Given the description of an element on the screen output the (x, y) to click on. 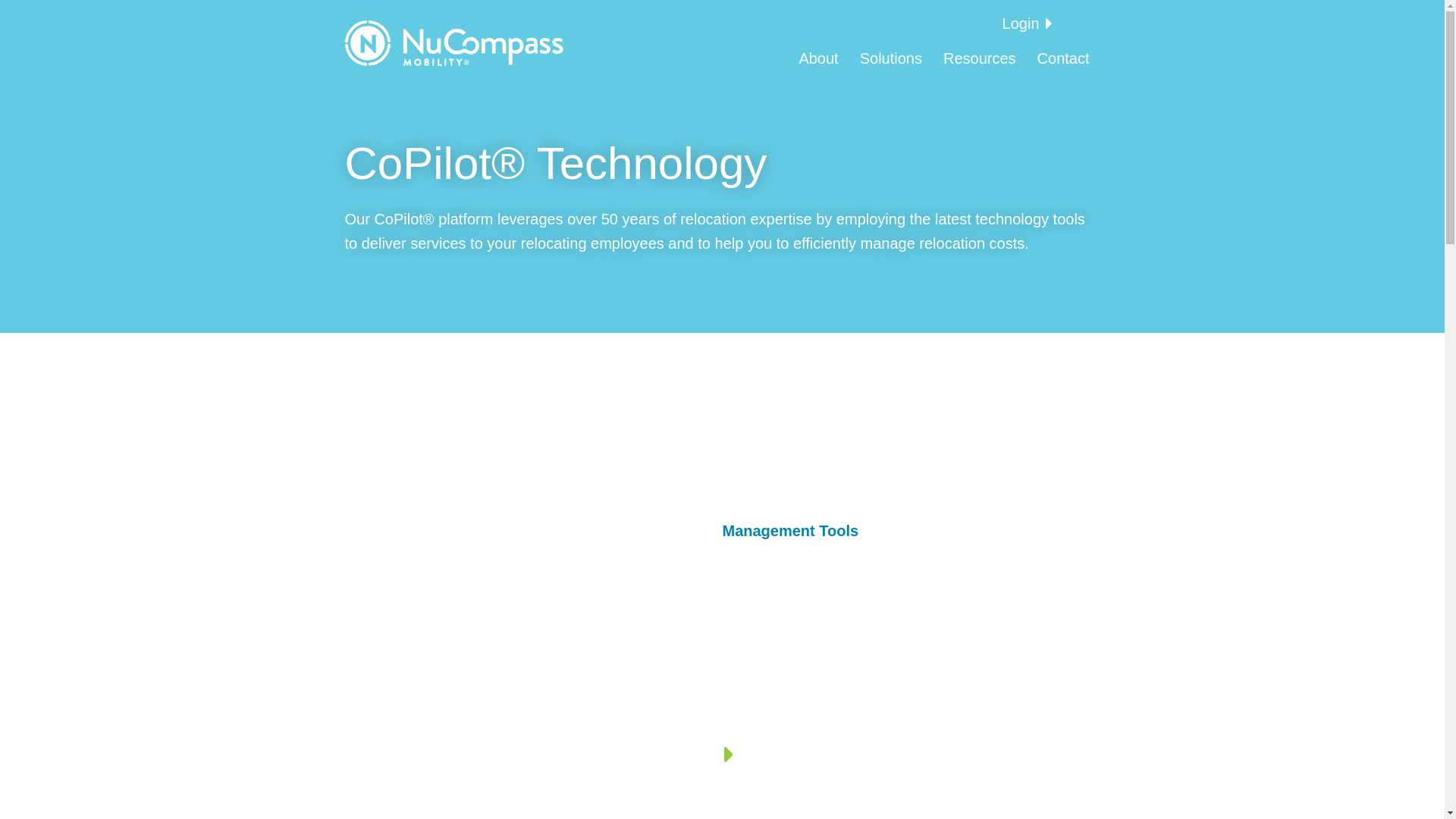
Contact (1063, 58)
Home (452, 43)
About (817, 58)
Solutions (890, 58)
Resources (979, 58)
Search (45, 15)
